Given the description of an element on the screen output the (x, y) to click on. 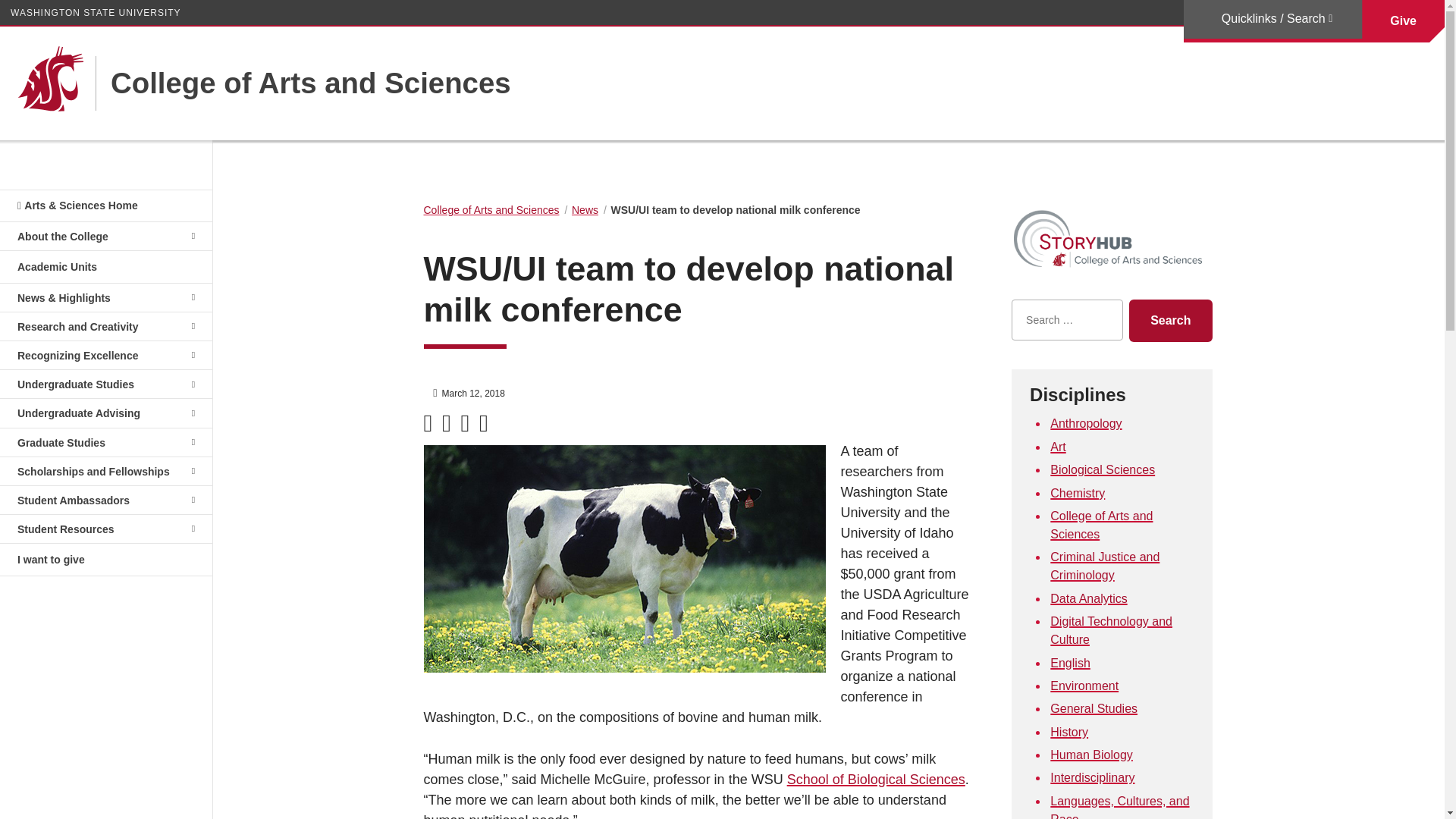
WASHINGTON STATE UNIVERSITY (96, 12)
Go to College of Arts and Sciences. (491, 209)
College of Arts and Sciences (303, 83)
Search (1170, 320)
Search (1170, 320)
Go to News. (585, 209)
